Given the description of an element on the screen output the (x, y) to click on. 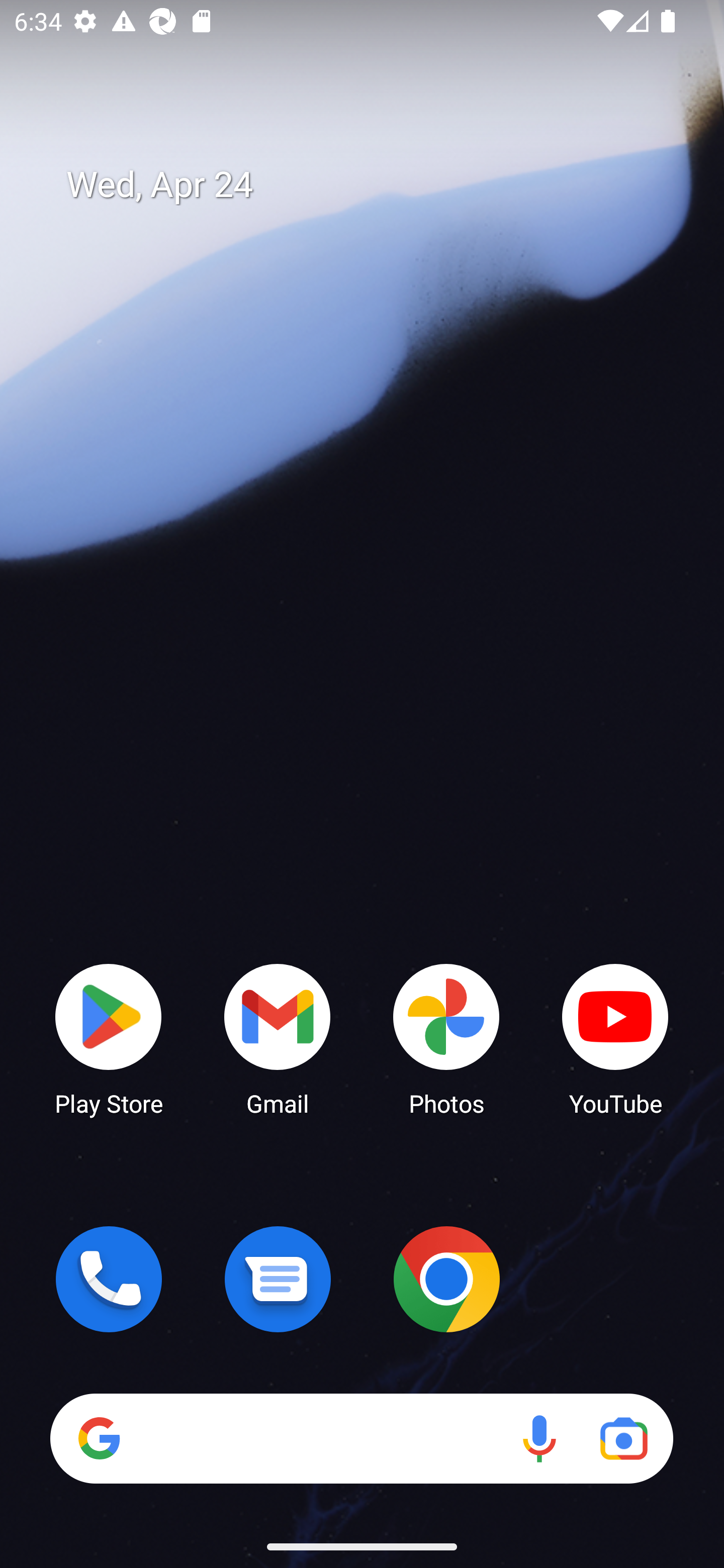
Wed, Apr 24 (375, 184)
Play Store (108, 1038)
Gmail (277, 1038)
Photos (445, 1038)
YouTube (615, 1038)
Phone (108, 1279)
Messages (277, 1279)
Chrome (446, 1279)
Search Voice search Google Lens (361, 1438)
Voice search (539, 1438)
Google Lens (623, 1438)
